Given the description of an element on the screen output the (x, y) to click on. 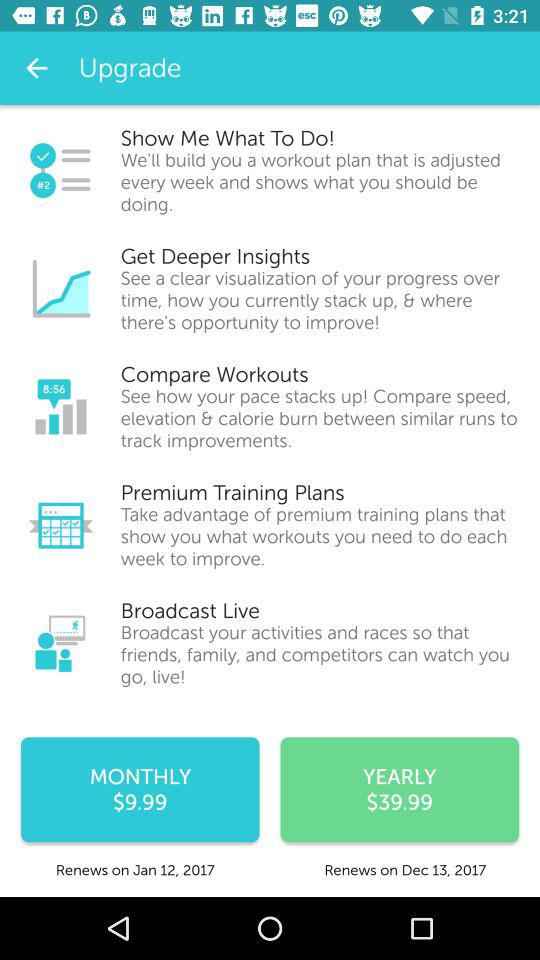
press the app to the left of the upgrade (36, 68)
